Given the description of an element on the screen output the (x, y) to click on. 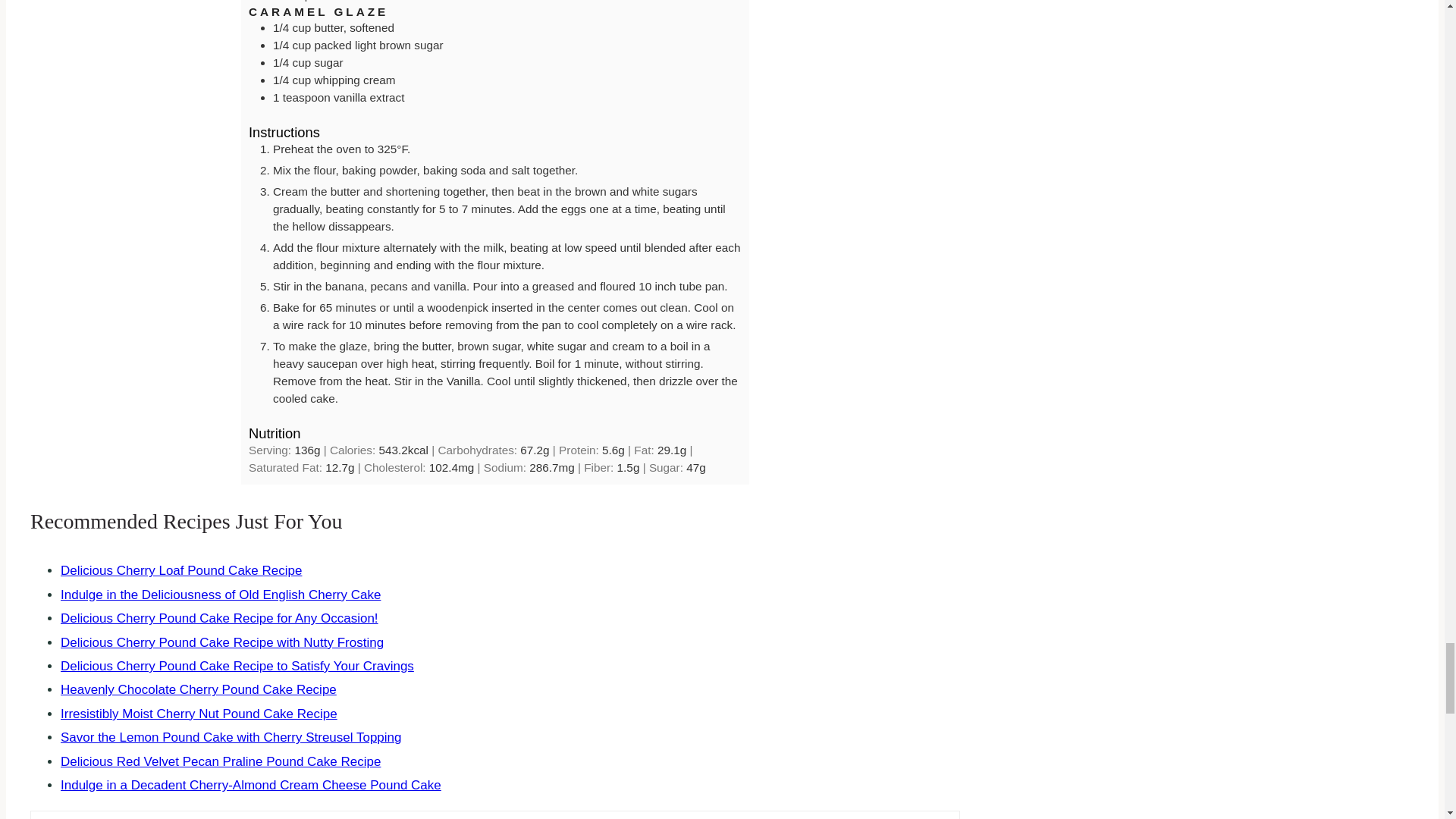
Delicious Cherry Pound Cake Recipe for Any Occasion! (219, 617)
Delicious Cherry Loaf Pound Cake Recipe (181, 570)
Indulge in the Deliciousness of Old English Cherry Cake (220, 594)
